Given the description of an element on the screen output the (x, y) to click on. 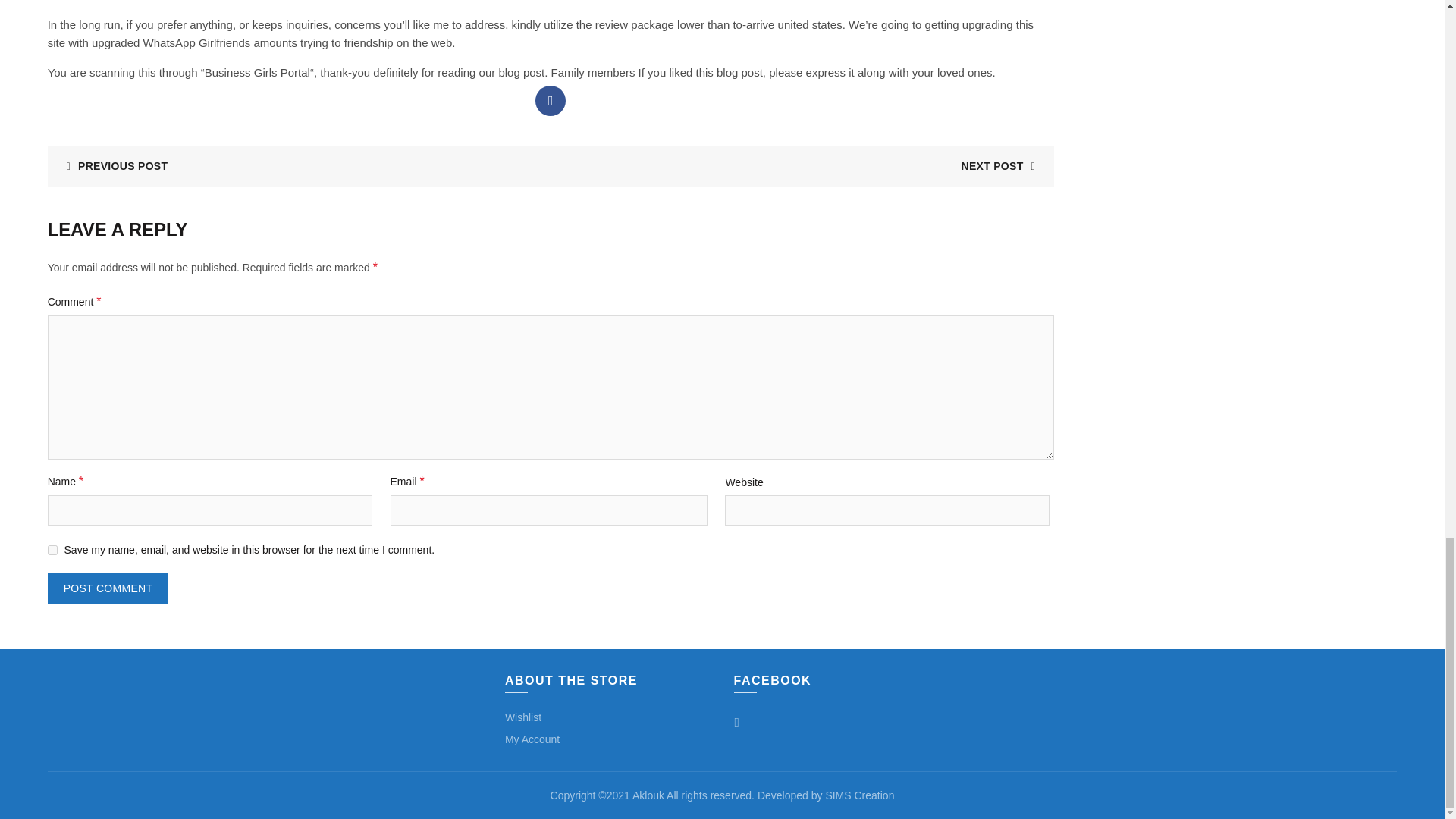
yes (53, 550)
Post Comment (108, 588)
